Given the description of an element on the screen output the (x, y) to click on. 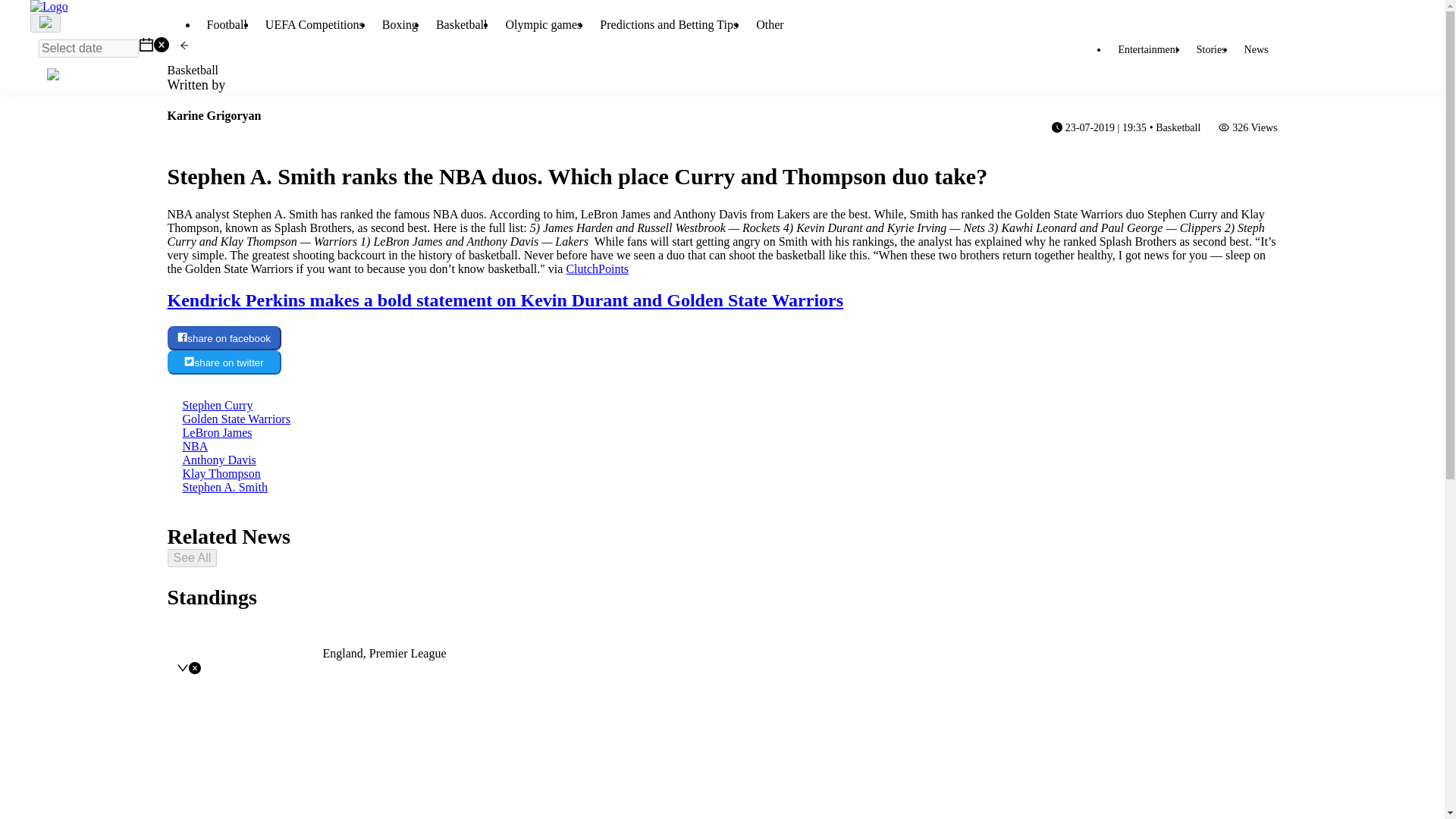
See All (191, 557)
LeBron James (216, 431)
England, Premier League (384, 653)
NBA (195, 445)
Anthony Davis (219, 459)
Klay Thompson (221, 472)
Stephen Curry (216, 404)
Stephen A. Smith (224, 486)
share on twitter (224, 362)
Golden State Warriors (235, 418)
Basketball (192, 69)
ClutchPoints (597, 268)
share on facebook (224, 337)
